Given the description of an element on the screen output the (x, y) to click on. 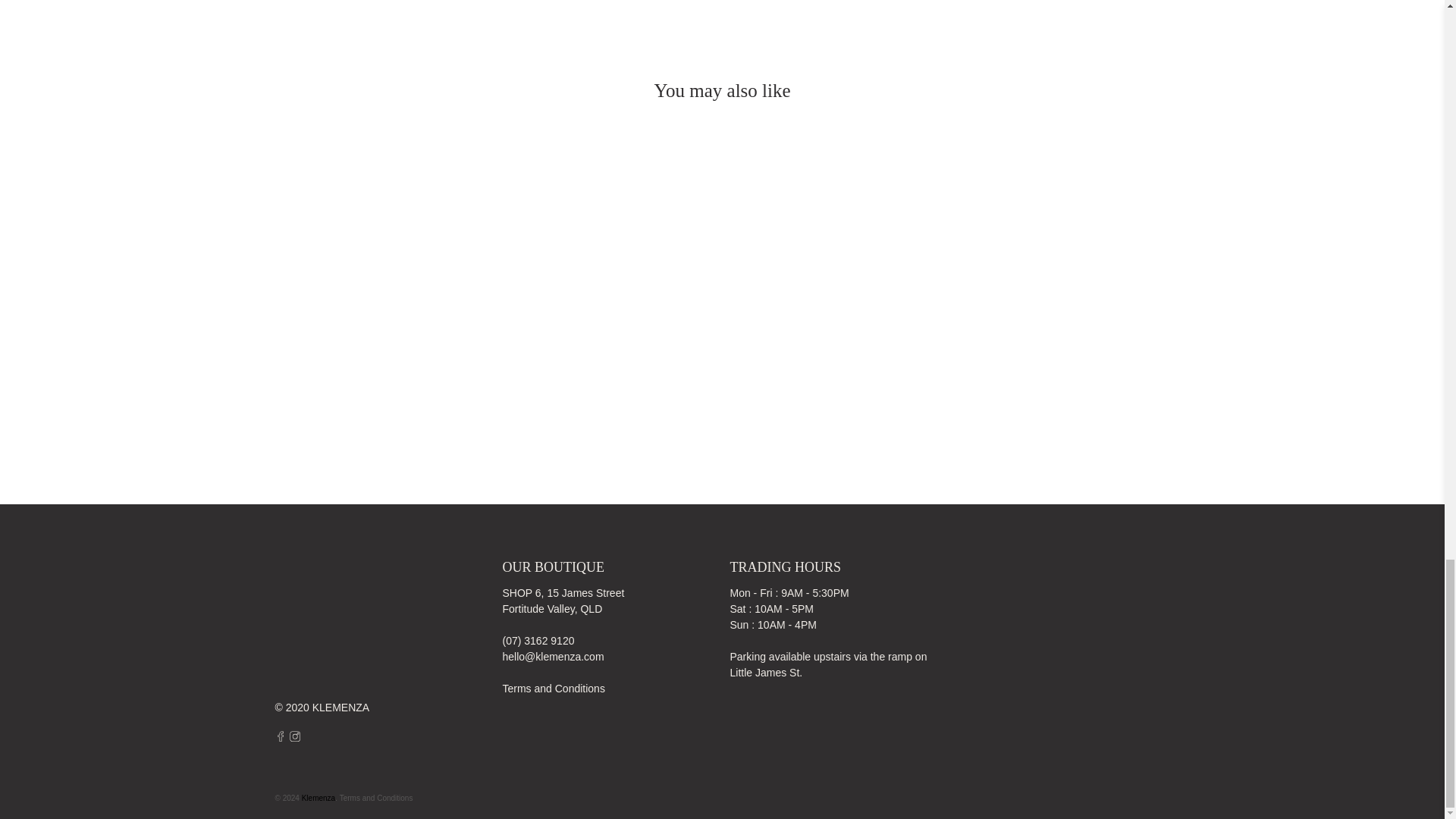
Klemenza (338, 628)
